Given the description of an element on the screen output the (x, y) to click on. 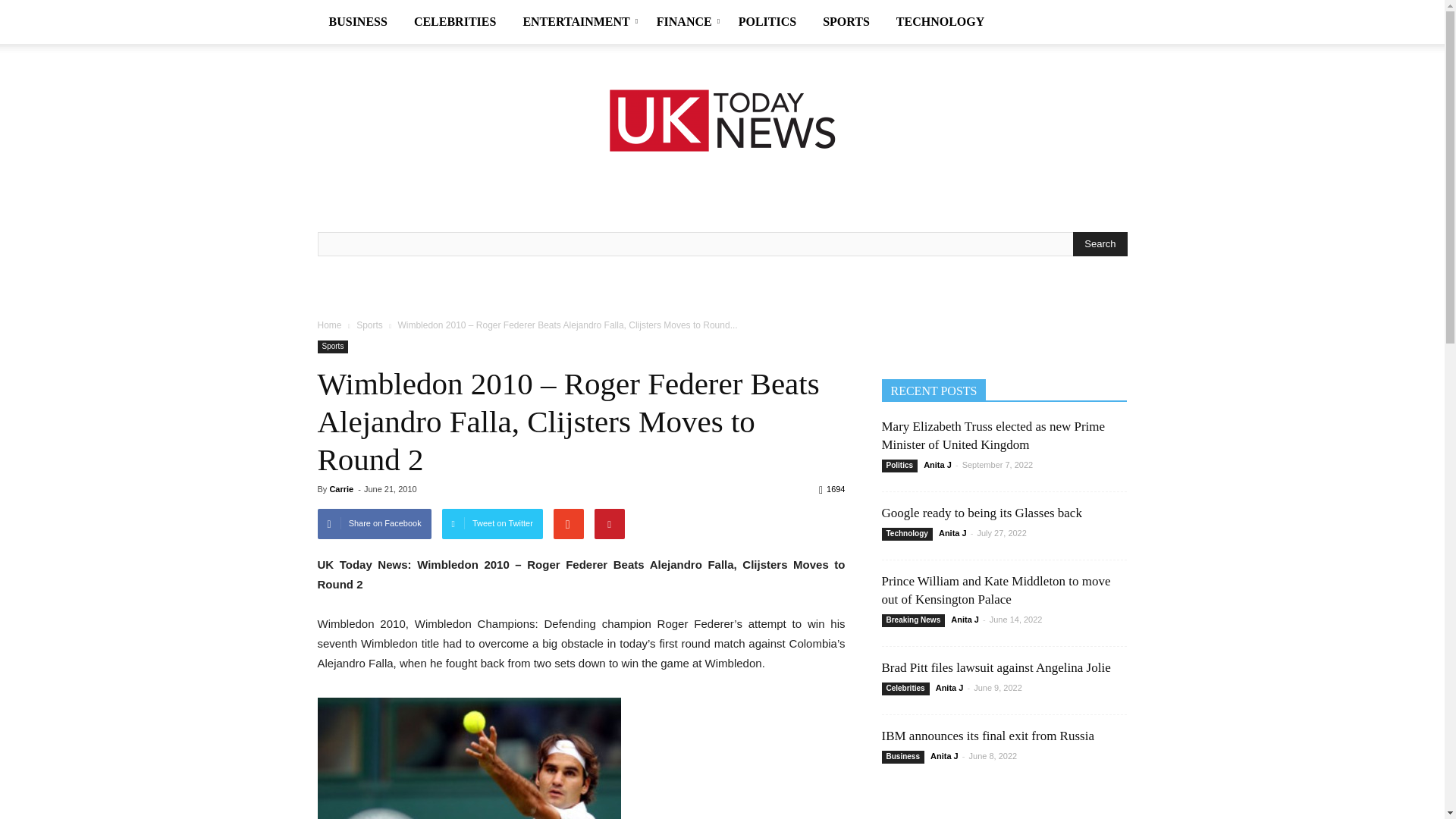
View all posts in Sports (369, 325)
Federer (468, 758)
FINANCE (685, 22)
BUSINESS (359, 22)
CELEBRITIES (457, 22)
Google ready to being its Glasses back (980, 513)
Brad Pitt files lawsuit against Angelina Jolie (994, 667)
ENTERTAINMENT (578, 22)
IBM announces its final exit from Russia (986, 735)
